Given the description of an element on the screen output the (x, y) to click on. 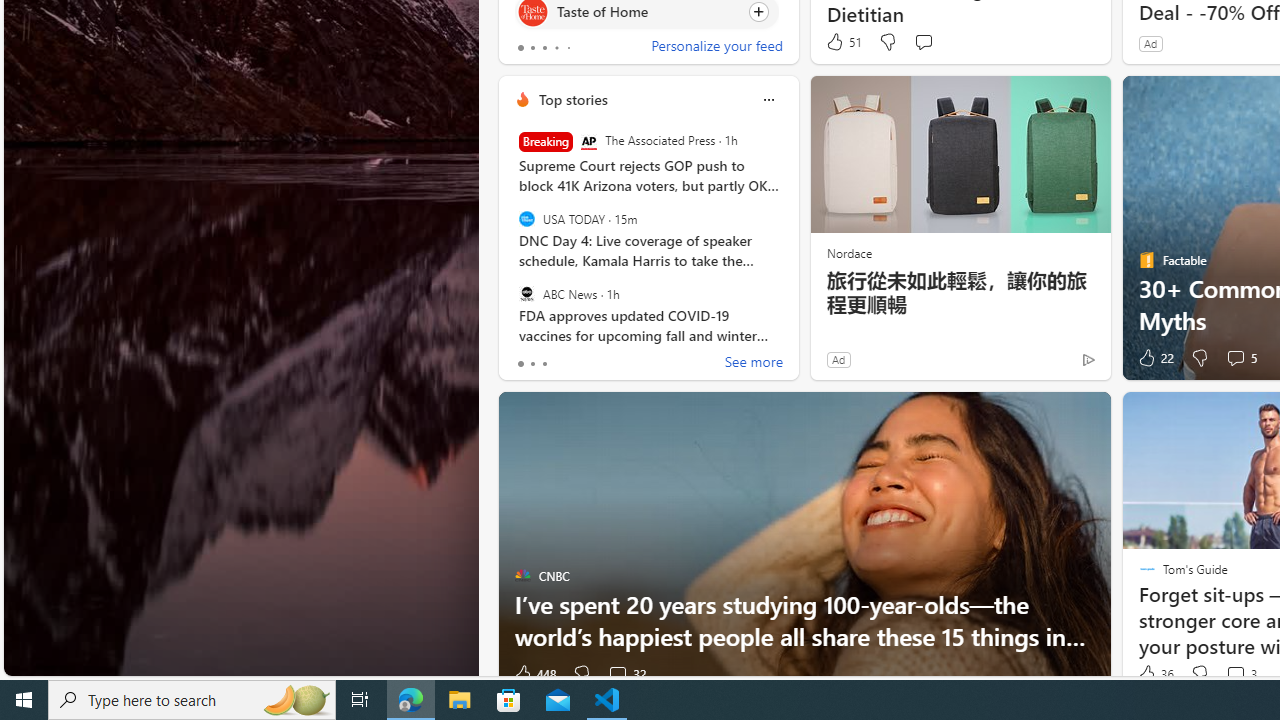
tab-0 (520, 363)
View comments 3 Comment (1240, 674)
448 Like (534, 674)
Top stories (572, 99)
51 Like (843, 42)
36 Like (1154, 674)
Start the conversation (923, 41)
View comments 3 Comment (1234, 673)
View comments 5 Comment (1240, 358)
View comments 32 Comment (626, 674)
tab-4 (567, 47)
